Given the description of an element on the screen output the (x, y) to click on. 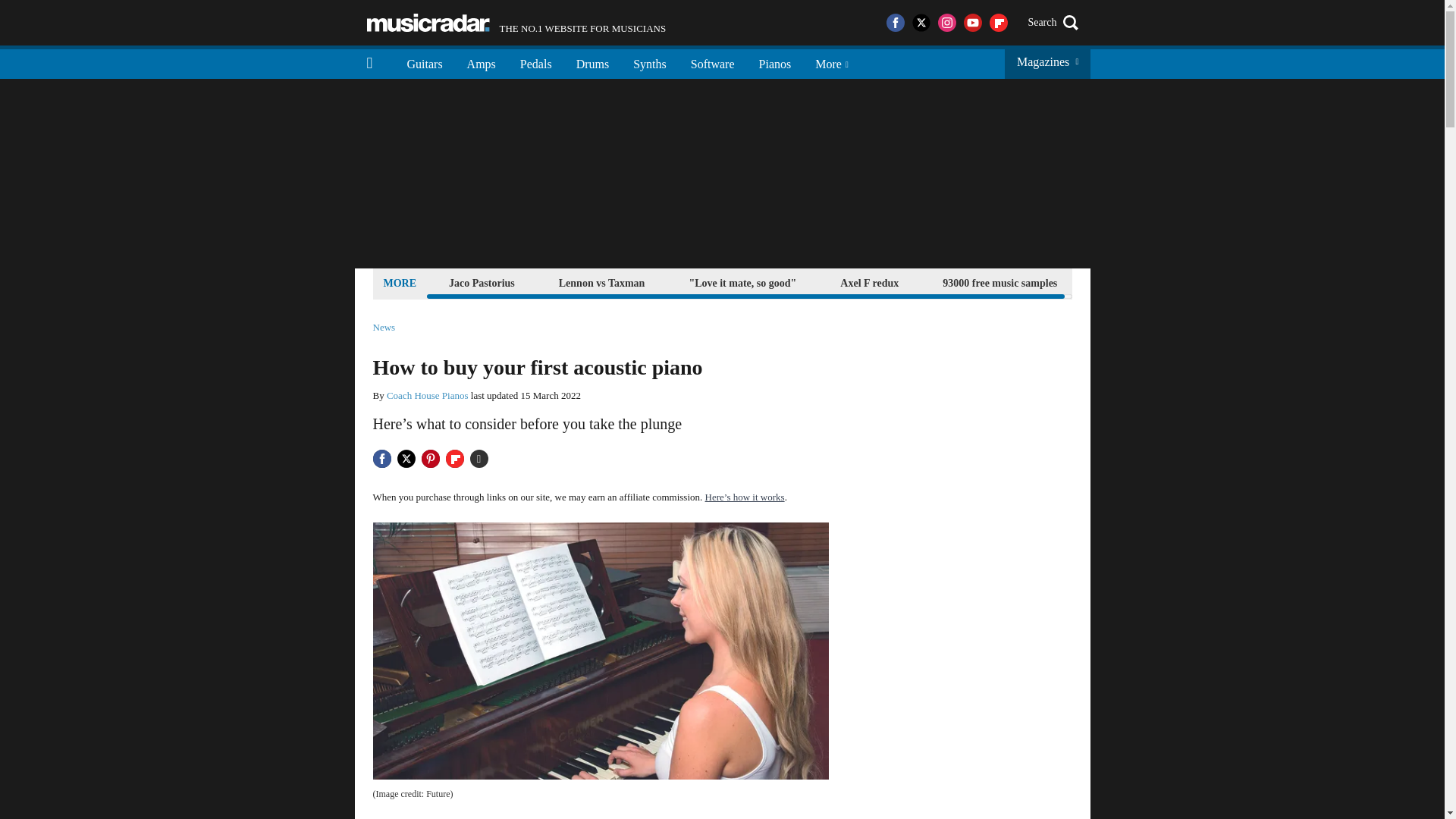
Software (712, 61)
News (384, 327)
Axel F redux (869, 282)
Drums (592, 61)
Pianos (774, 61)
Synths (649, 61)
Jaco Pastorius (481, 282)
Lennon vs Taxman (601, 282)
Pedals (536, 61)
"Love it mate, so good" (742, 282)
93000 free music samples (999, 282)
Amps (481, 61)
Guitars (424, 61)
Music Radar (427, 22)
